Given the description of an element on the screen output the (x, y) to click on. 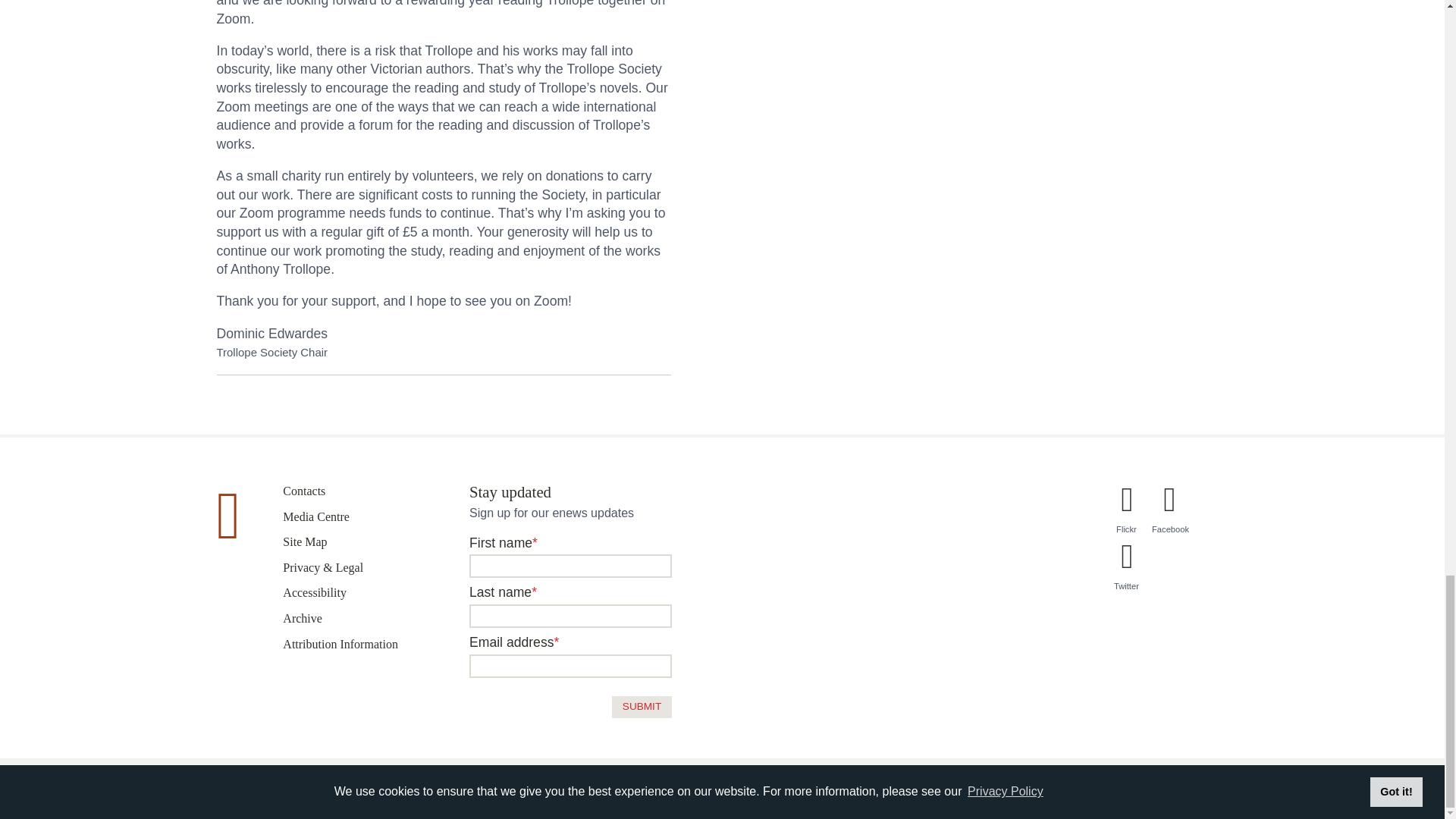
Contacts (303, 490)
Find us on Facebook (1170, 518)
See our photos on Flickr (1126, 518)
Media Centre (315, 516)
Visit the Public Life website (1208, 782)
Follow us on Twitter (1126, 575)
Submit (641, 707)
